Given the description of an element on the screen output the (x, y) to click on. 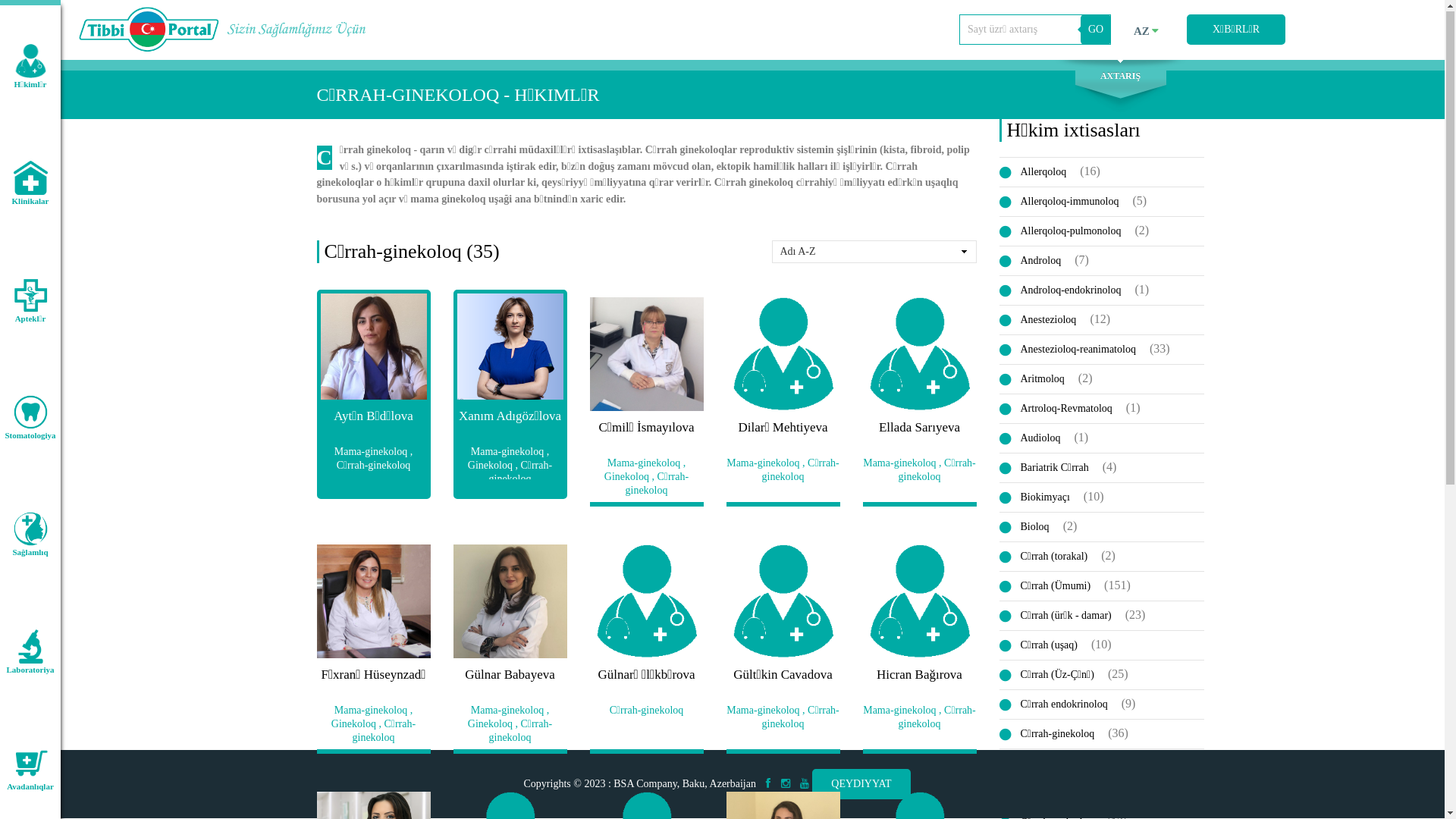
Allerqoloq Element type: text (1038, 172)
GO Element type: text (1095, 30)
Bioloq Element type: text (1029, 527)
Allerqoloq-immunoloq Element type: text (1064, 202)
Androloq-endokrinoloq Element type: text (1065, 290)
Androloq Element type: text (1035, 261)
Klinikalar Element type: text (30, 180)
Anestezioloq-reanimatoloq Element type: text (1072, 349)
Stomatologiya Element type: text (30, 415)
Artroloq-Revmatoloq Element type: text (1061, 409)
Audioloq Element type: text (1035, 438)
Anestezioloq Element type: text (1043, 320)
AZ   Element type: text (1148, 31)
Aritmoloq Element type: text (1037, 379)
Allerqoloq-pulmonoloq Element type: text (1065, 231)
QEYDIYYAT Element type: text (861, 784)
Laboratoriya Element type: text (30, 648)
